Given the description of an element on the screen output the (x, y) to click on. 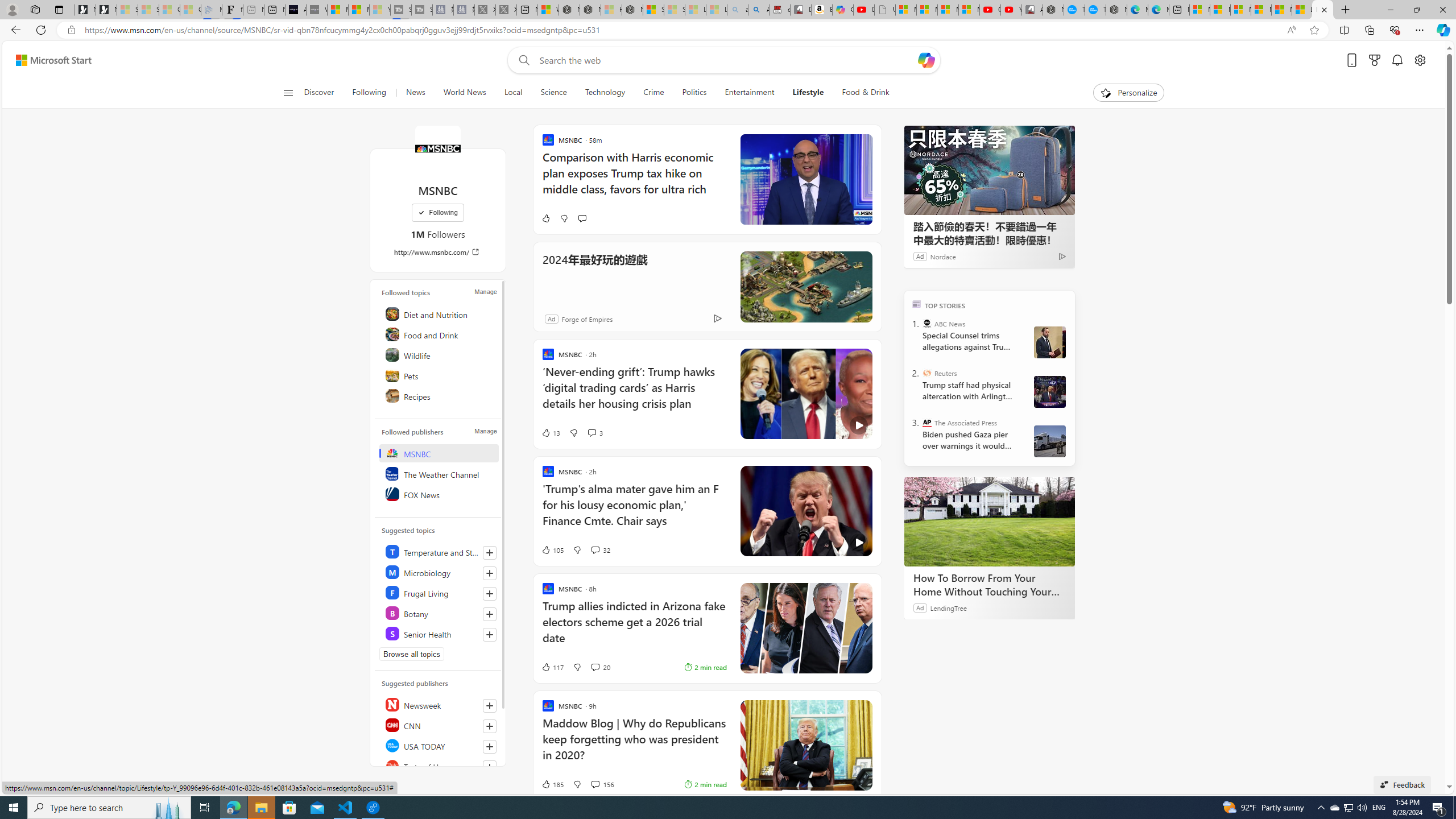
Recipes (439, 395)
How To Borrow From Your Home Without Touching Your Mortgage (989, 521)
Crime (653, 92)
View comments 156 Comment (594, 783)
Browse all topics (412, 653)
